Given the description of an element on the screen output the (x, y) to click on. 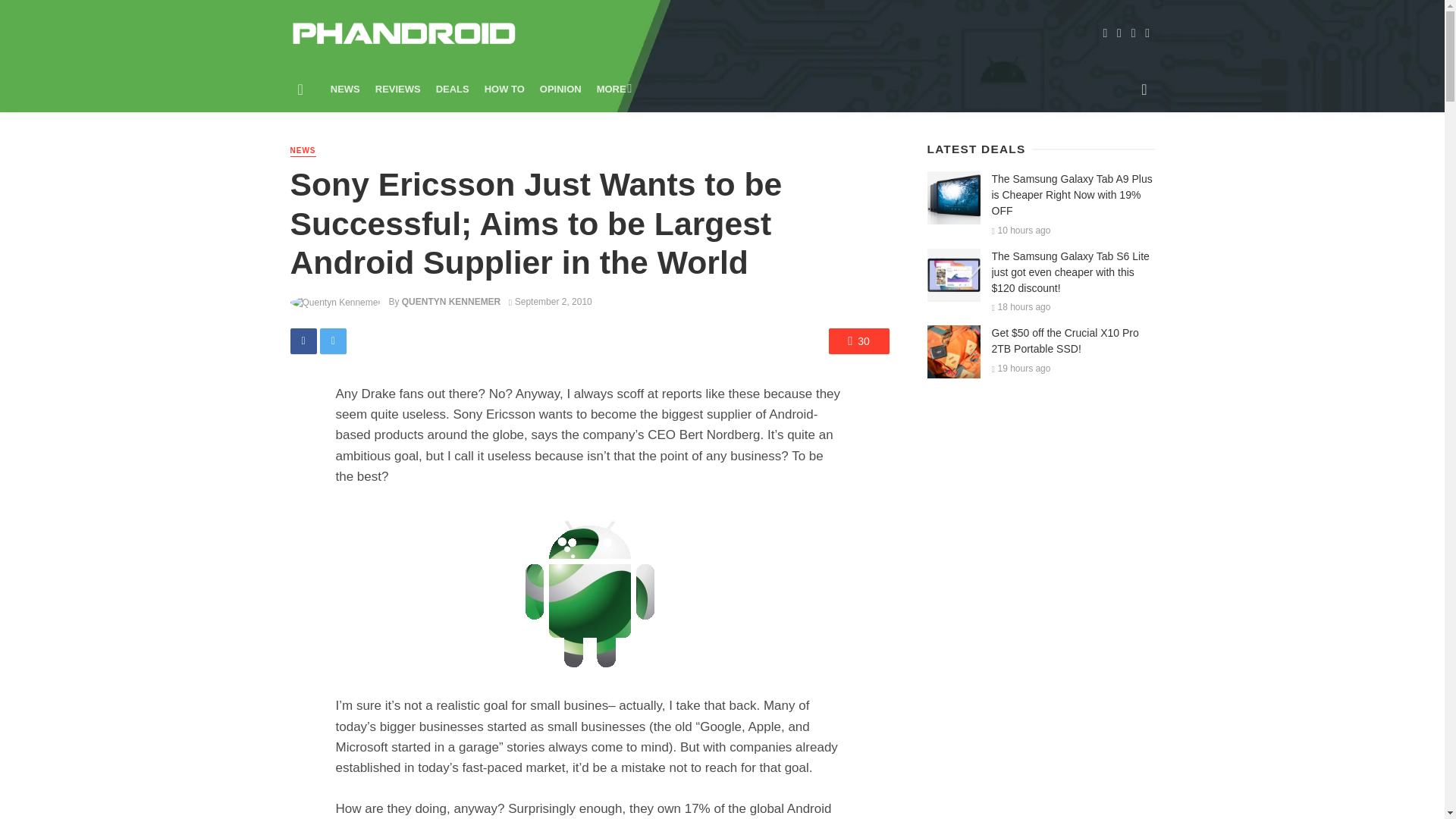
Share on Facebook (302, 340)
OPINION (560, 89)
30 Comments (858, 340)
REVIEWS (398, 89)
QUENTYN KENNEMER (450, 301)
September 2, 2010 at 12:00 pm (550, 301)
Posts by Quentyn Kennemer (450, 301)
MORE (612, 89)
NEWS (345, 89)
30 (858, 340)
